Given the description of an element on the screen output the (x, y) to click on. 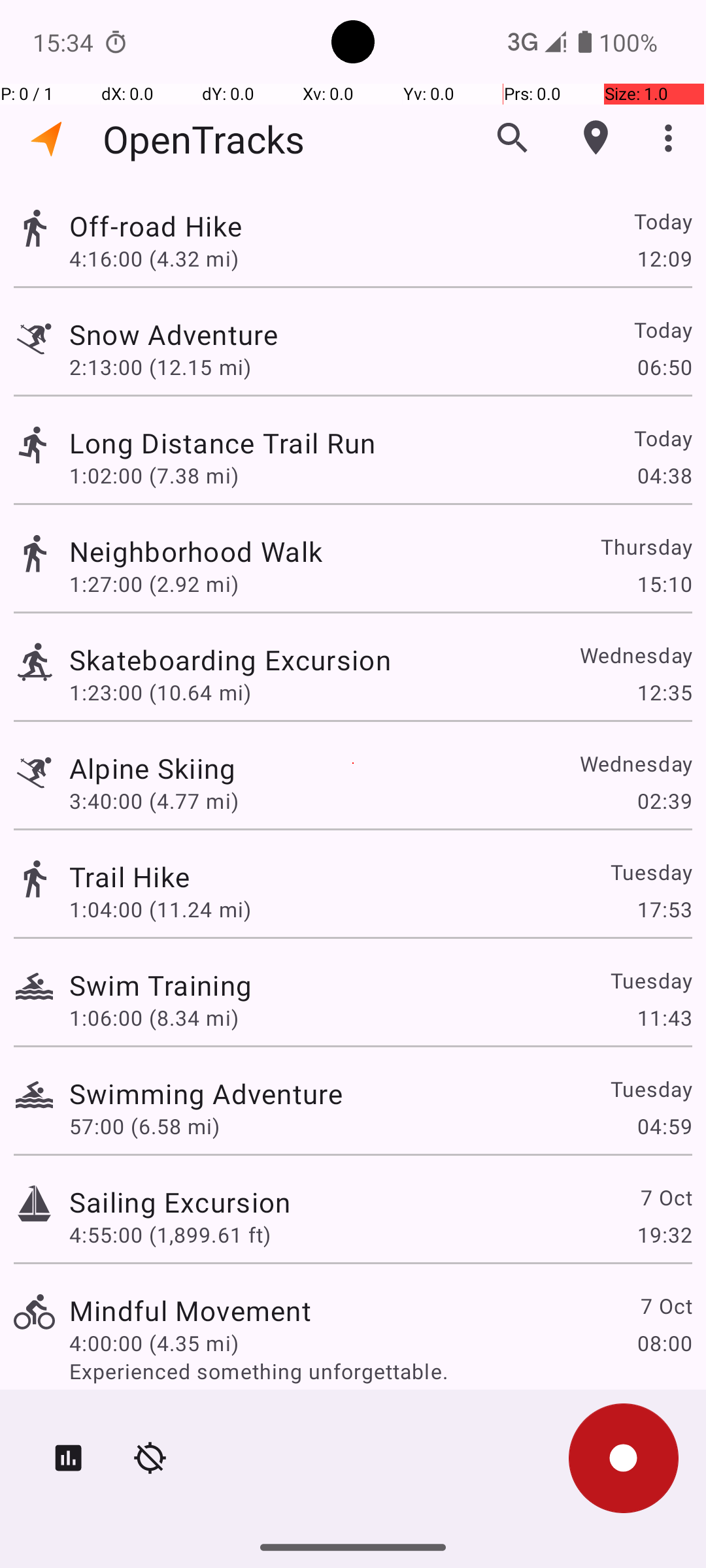
Off-road Hike Element type: android.widget.TextView (155, 225)
4:16:00 (4.32 mi) Element type: android.widget.TextView (153, 258)
12:09 Element type: android.widget.TextView (664, 258)
Snow Adventure Element type: android.widget.TextView (173, 333)
2:13:00 (12.15 mi) Element type: android.widget.TextView (159, 366)
06:50 Element type: android.widget.TextView (664, 366)
Long Distance Trail Run Element type: android.widget.TextView (221, 442)
1:02:00 (7.38 mi) Element type: android.widget.TextView (153, 475)
04:38 Element type: android.widget.TextView (664, 475)
Neighborhood Walk Element type: android.widget.TextView (195, 550)
1:27:00 (2.92 mi) Element type: android.widget.TextView (153, 583)
15:10 Element type: android.widget.TextView (664, 583)
Skateboarding Excursion Element type: android.widget.TextView (229, 659)
1:23:00 (10.64 mi) Element type: android.widget.TextView (159, 692)
12:35 Element type: android.widget.TextView (664, 692)
Alpine Skiing Element type: android.widget.TextView (152, 767)
3:40:00 (4.77 mi) Element type: android.widget.TextView (153, 800)
02:39 Element type: android.widget.TextView (664, 800)
Trail Hike Element type: android.widget.TextView (129, 876)
1:04:00 (11.24 mi) Element type: android.widget.TextView (159, 909)
17:53 Element type: android.widget.TextView (664, 909)
Swim Training Element type: android.widget.TextView (160, 984)
1:06:00 (8.34 mi) Element type: android.widget.TextView (153, 1017)
11:43 Element type: android.widget.TextView (664, 1017)
Swimming Adventure Element type: android.widget.TextView (205, 1092)
57:00 (6.58 mi) Element type: android.widget.TextView (144, 1125)
04:59 Element type: android.widget.TextView (664, 1125)
Sailing Excursion Element type: android.widget.TextView (179, 1201)
7 Oct Element type: android.widget.TextView (665, 1197)
4:55:00 (1,899.61 ft) Element type: android.widget.TextView (169, 1234)
19:32 Element type: android.widget.TextView (664, 1234)
Mindful Movement Element type: android.widget.TextView (189, 1309)
4:00:00 (4.35 mi) Element type: android.widget.TextView (153, 1342)
08:00 Element type: android.widget.TextView (664, 1342)
Experienced something unforgettable. Element type: android.widget.TextView (380, 1370)
